Given the description of an element on the screen output the (x, y) to click on. 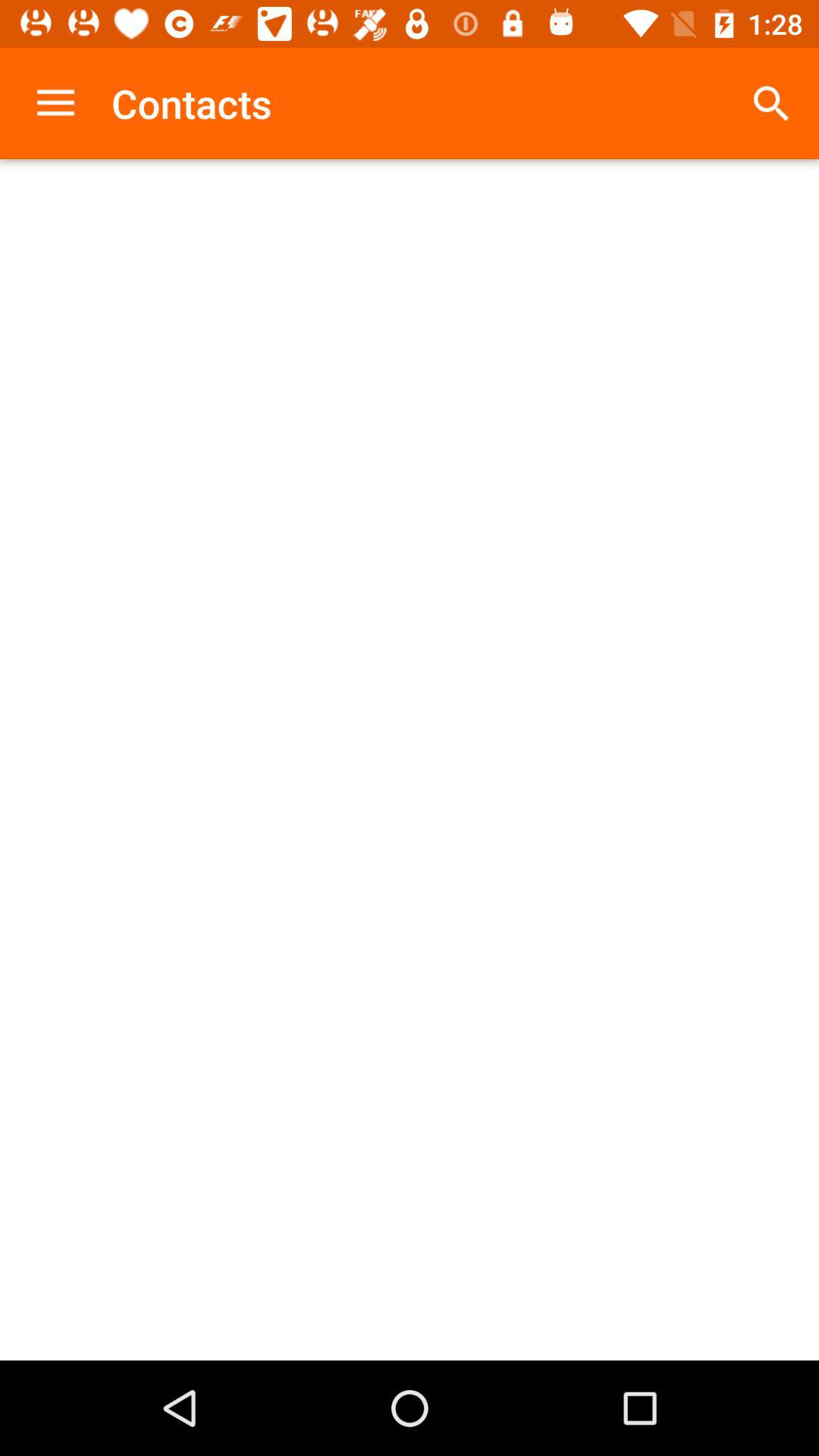
open the icon to the left of contacts (55, 103)
